Given the description of an element on the screen output the (x, y) to click on. 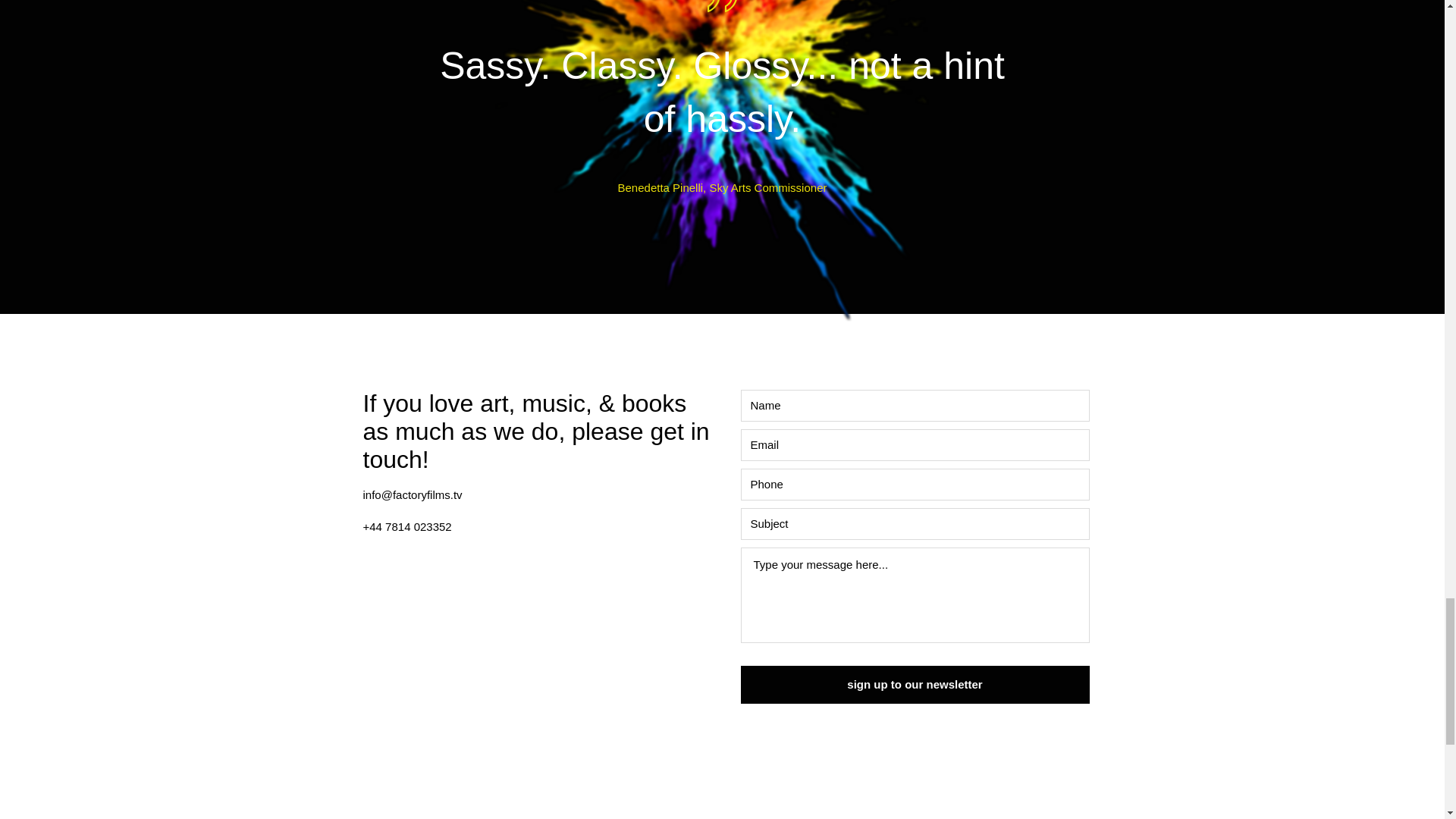
sign up to our newsletter (914, 684)
